Given the description of an element on the screen output the (x, y) to click on. 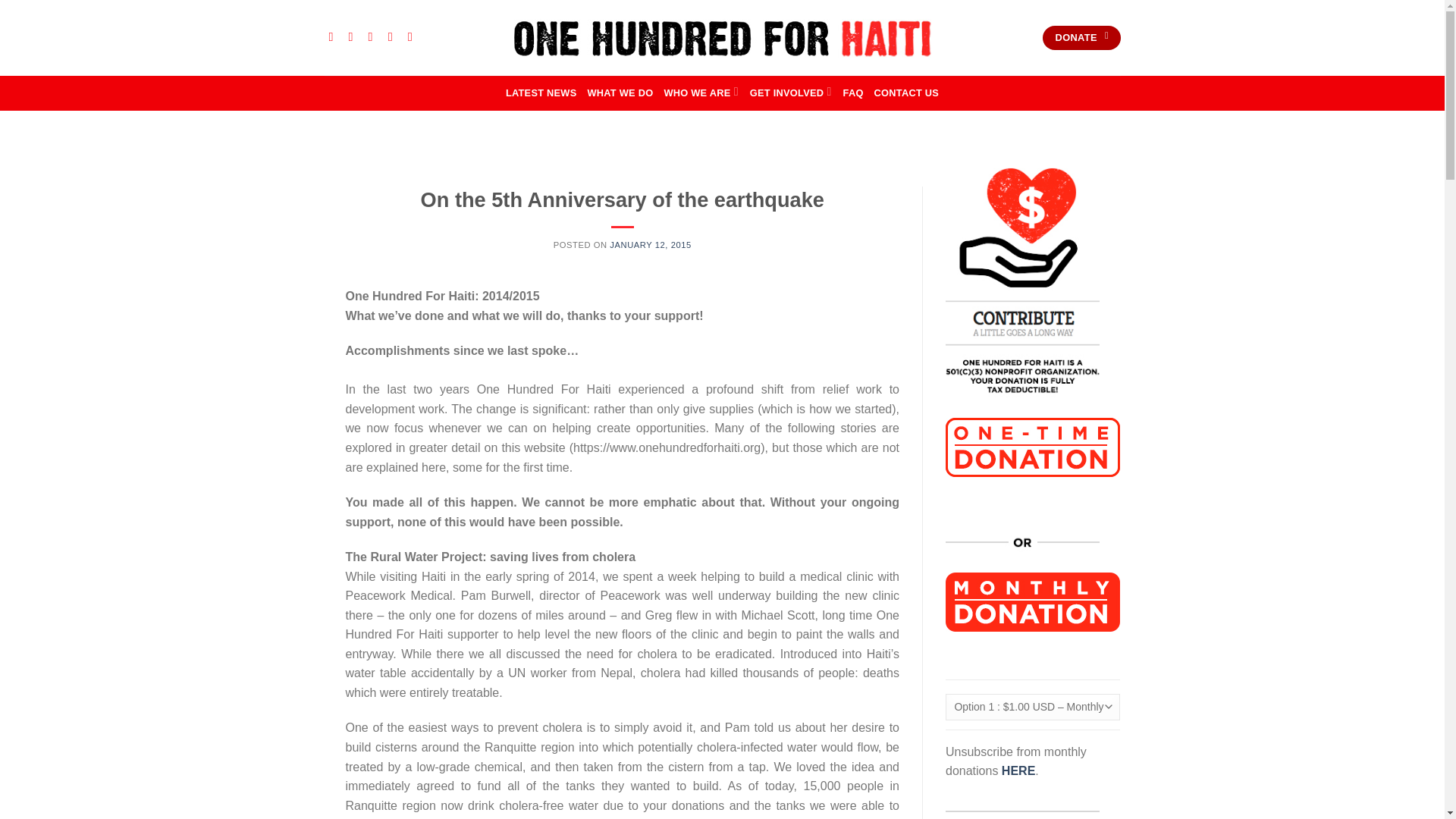
DONATE (1080, 37)
WHAT WE DO (619, 93)
HERE (1018, 770)
One Hundred For Haiti (722, 37)
GET INVOLVED (790, 93)
LATEST NEWS (540, 93)
WHO WE ARE (700, 93)
JANUARY 12, 2015 (650, 244)
CONTACT US (907, 93)
